Given the description of an element on the screen output the (x, y) to click on. 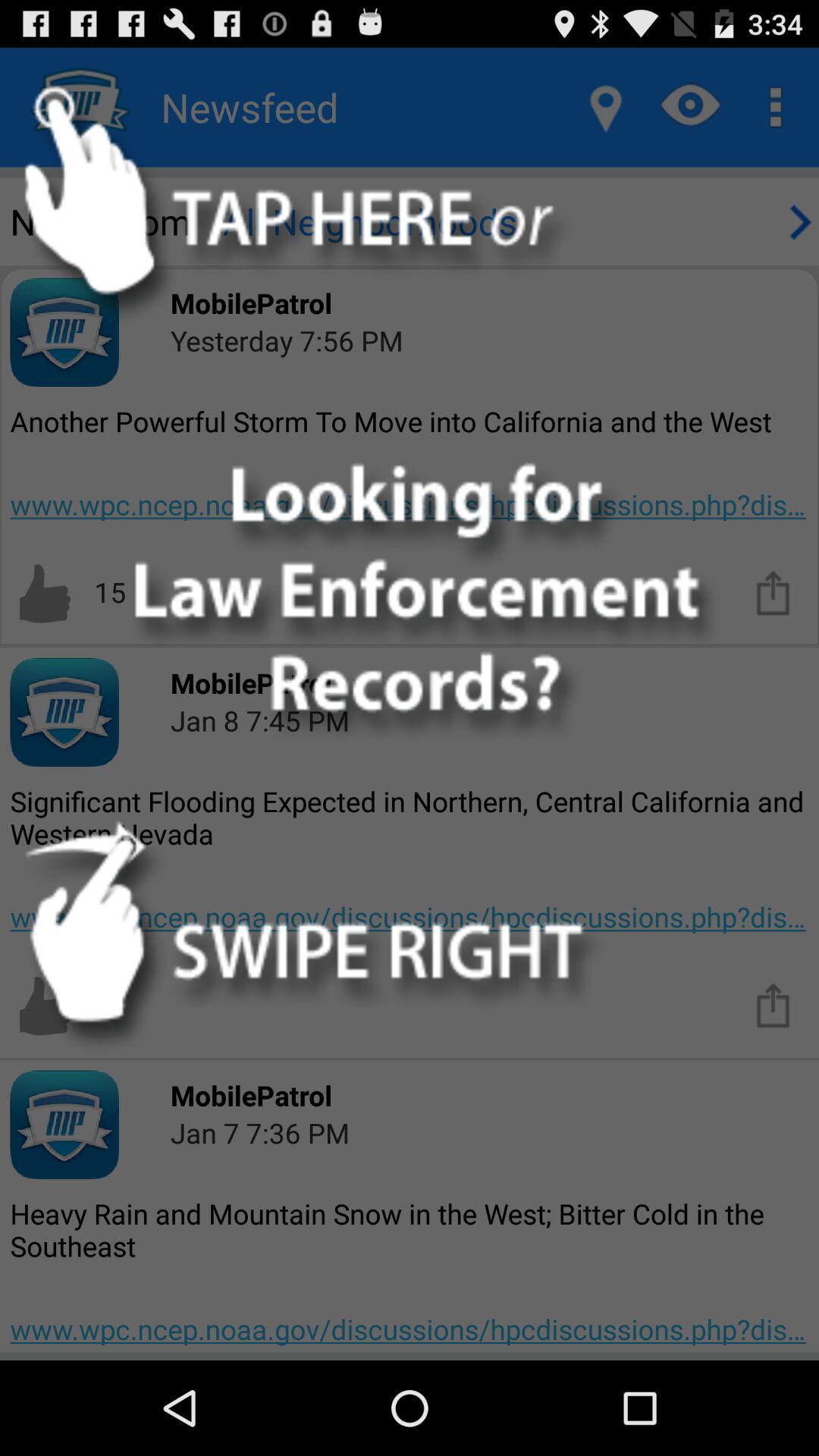
upload data (774, 1004)
